Given the description of an element on the screen output the (x, y) to click on. 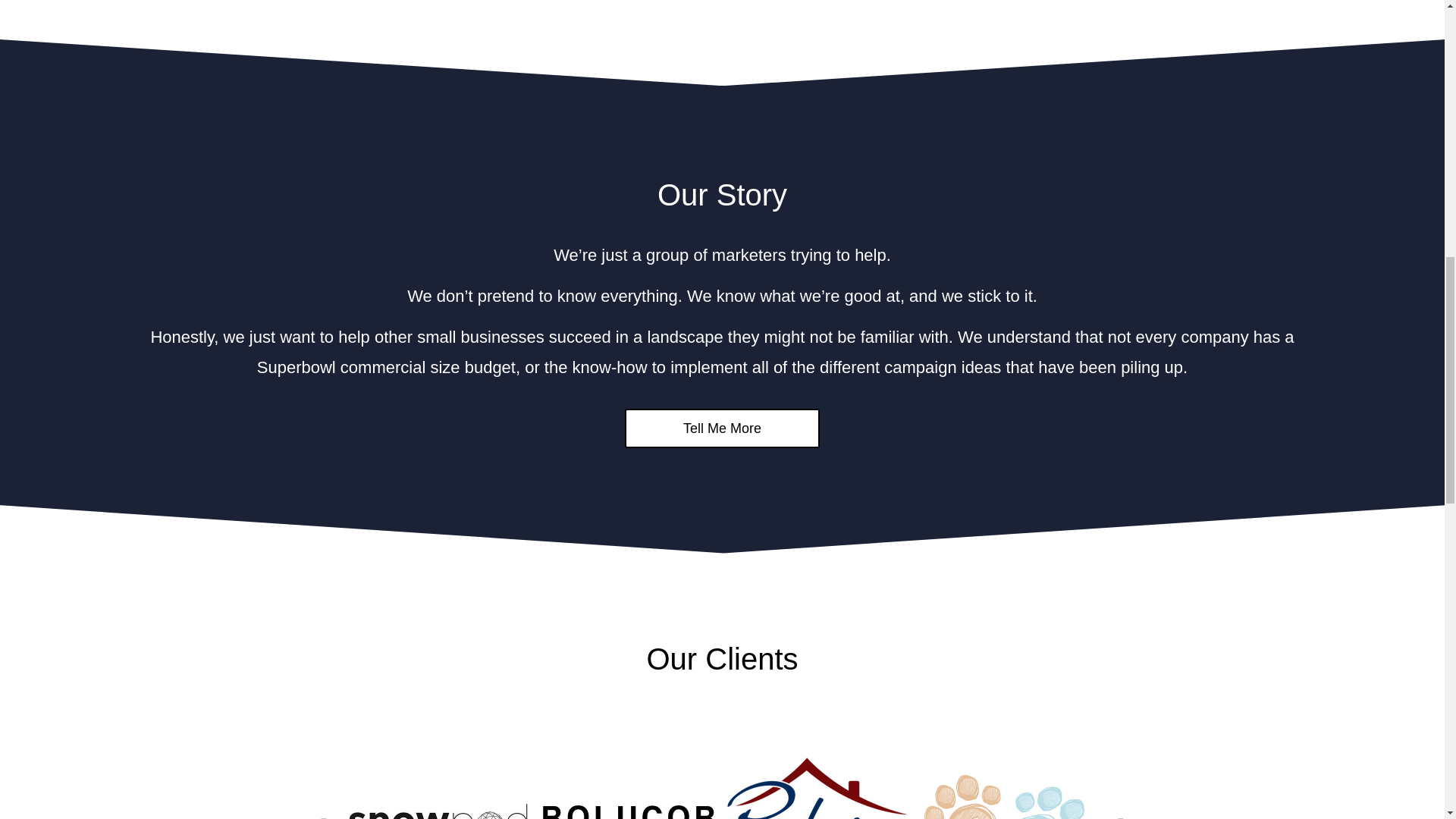
Tell Me More (721, 427)
